Given the description of an element on the screen output the (x, y) to click on. 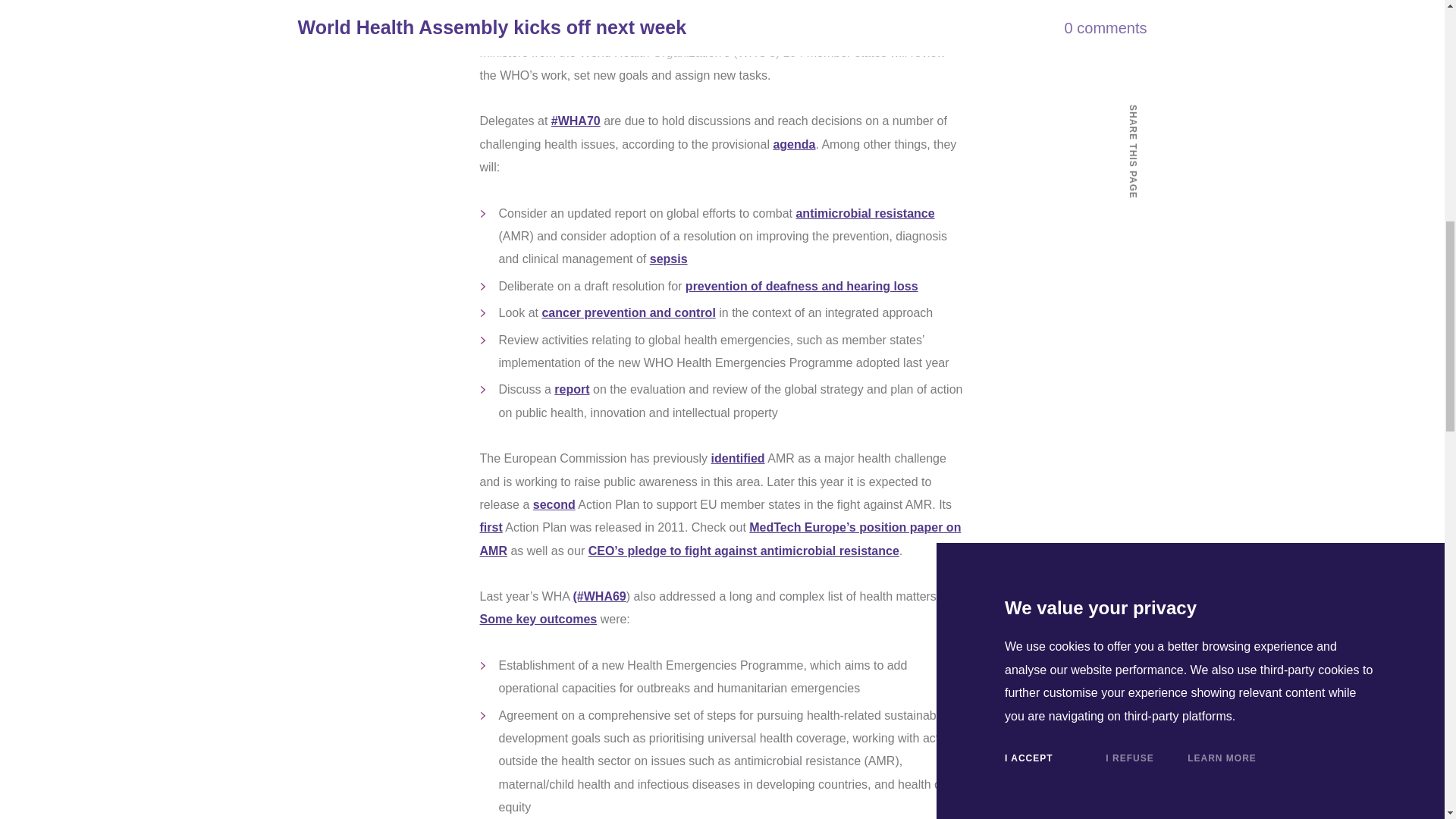
Share on Facebook (1131, 152)
antimicrobial resistance (864, 213)
Share on Email (1131, 253)
agenda (794, 144)
Share on Linkedin (1131, 218)
Share on Twitter (1131, 185)
